Given the description of an element on the screen output the (x, y) to click on. 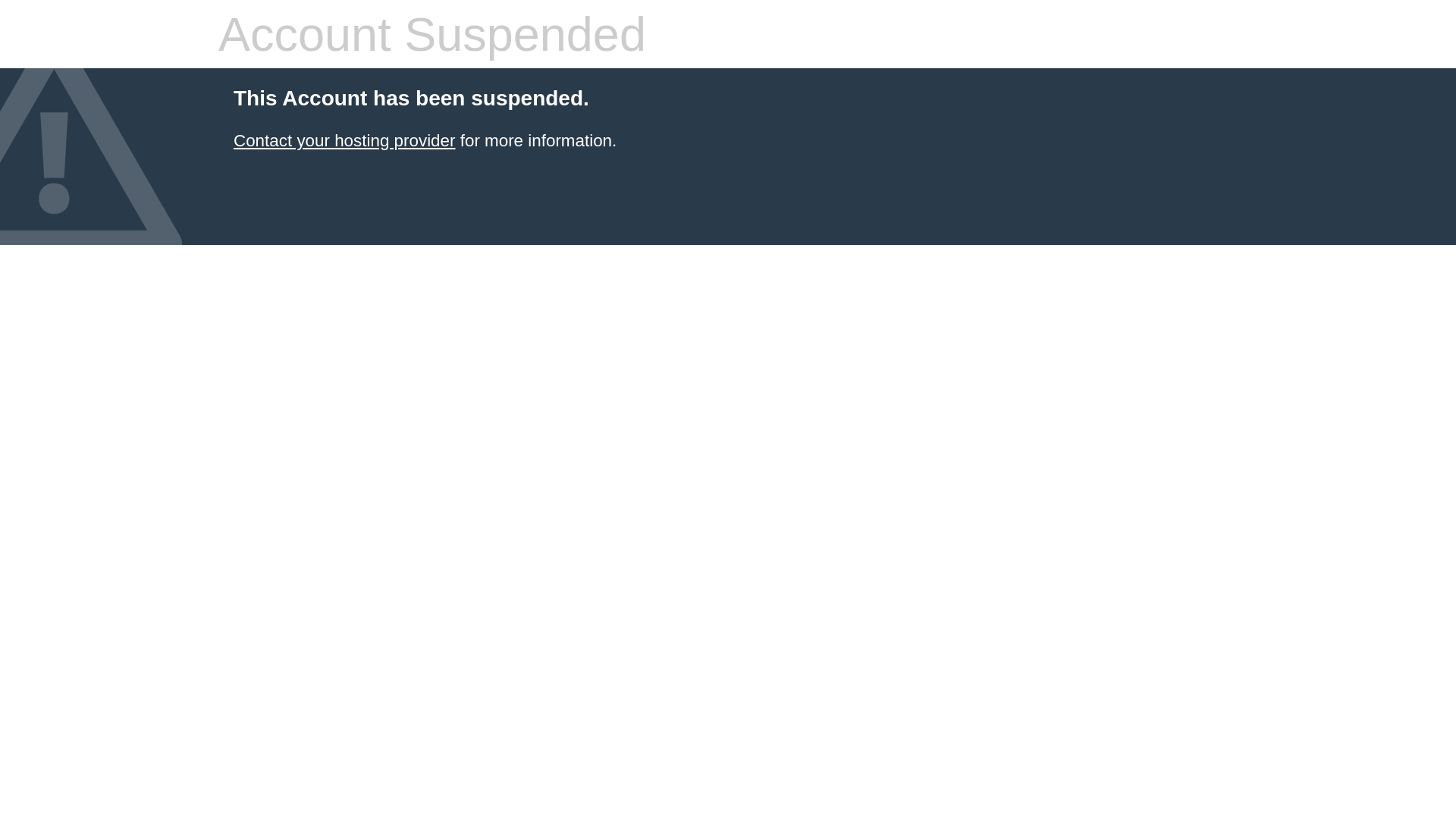
Contact your hosting provider Element type: text (344, 140)
